Given the description of an element on the screen output the (x, y) to click on. 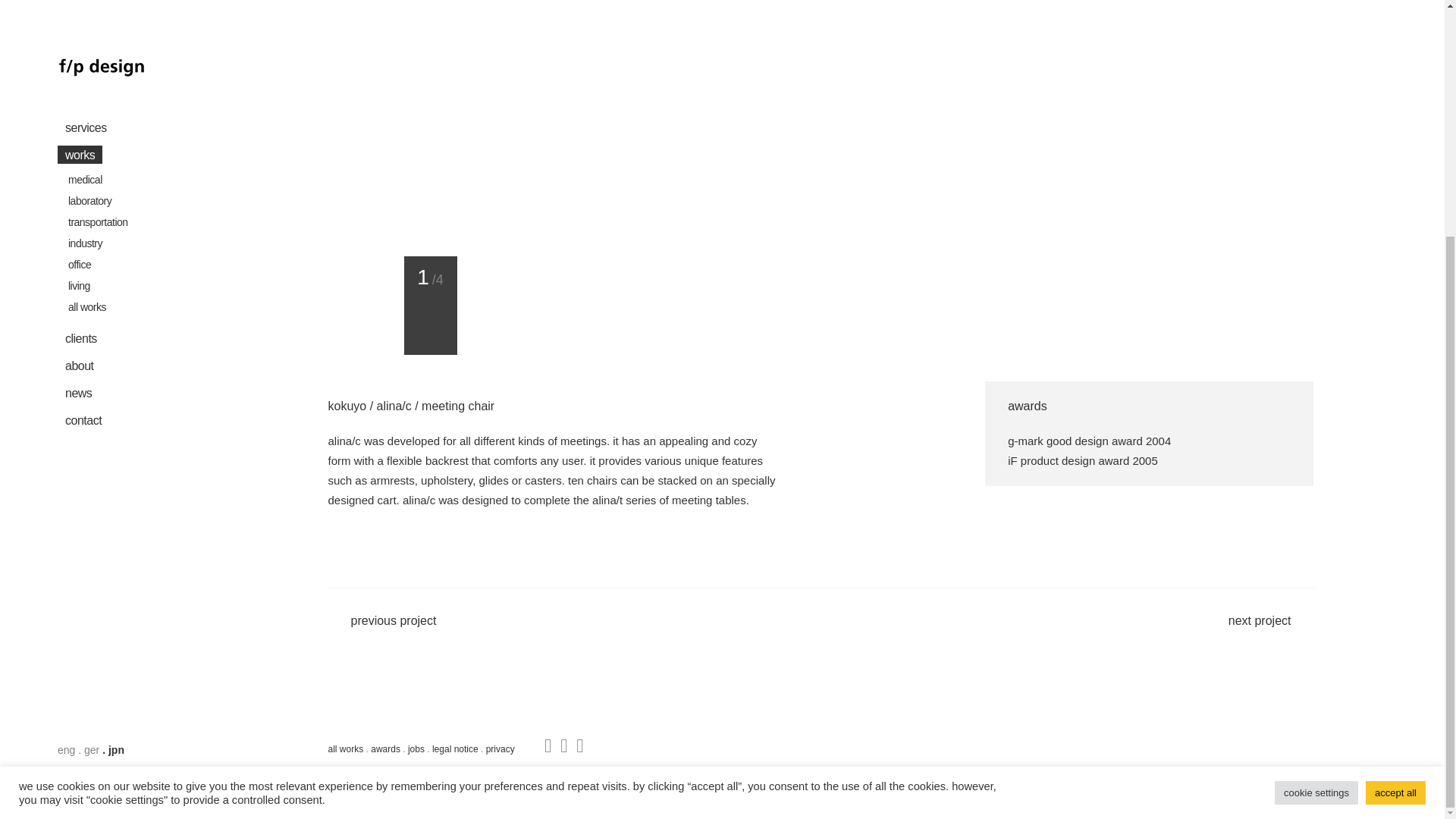
about (141, 43)
ger (91, 427)
contact (141, 98)
ger (91, 427)
jpn (115, 427)
eng (66, 427)
news (141, 71)
jpn (115, 427)
eng (66, 427)
clients (141, 16)
